Given the description of an element on the screen output the (x, y) to click on. 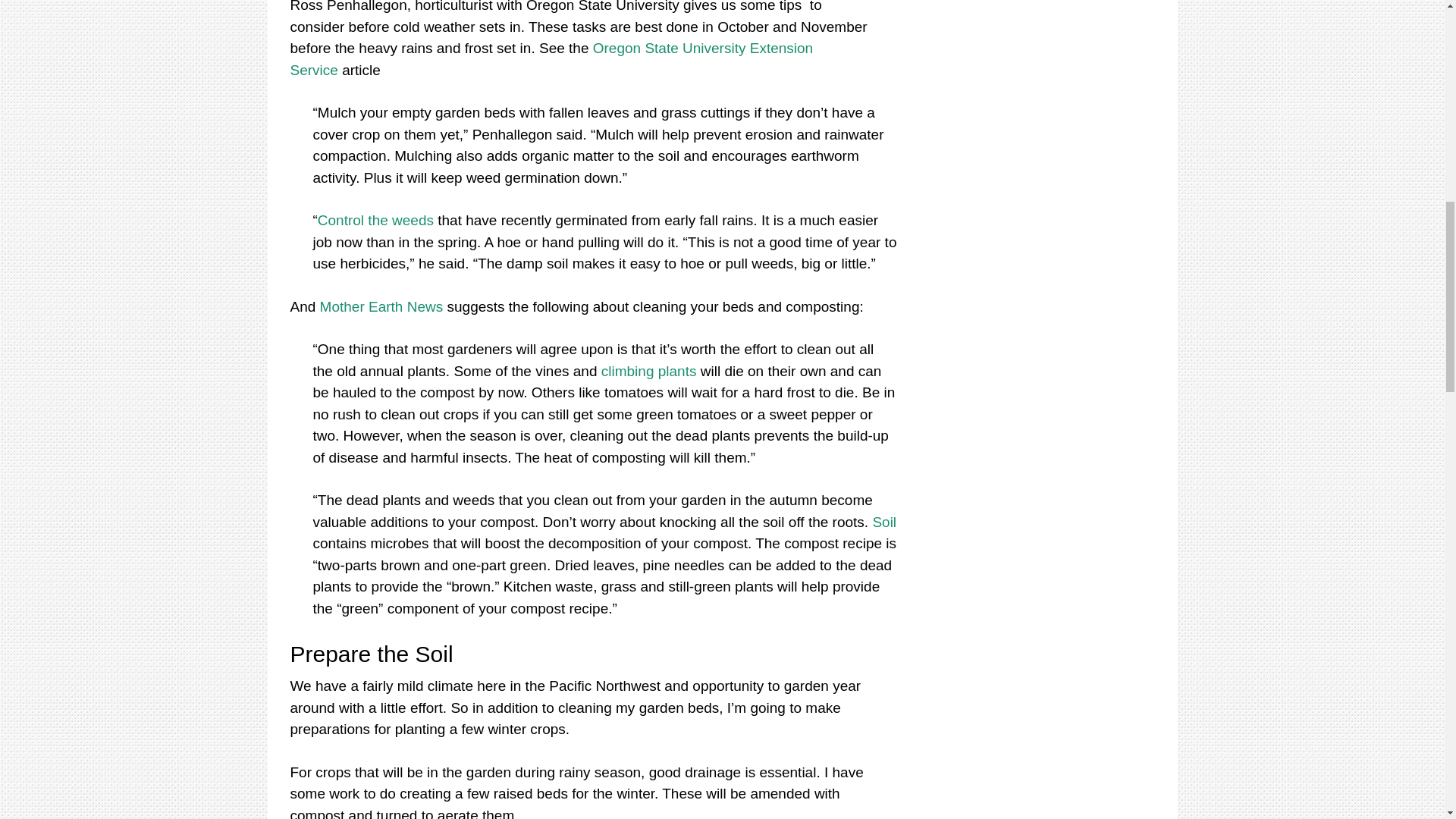
Control the weeds (375, 220)
Mother Earth News - Prepare Your Vegetable Garden for Winter (382, 306)
Oregon State Extension Service Link (550, 58)
Oregon State University Extension Service (550, 58)
